Given the description of an element on the screen output the (x, y) to click on. 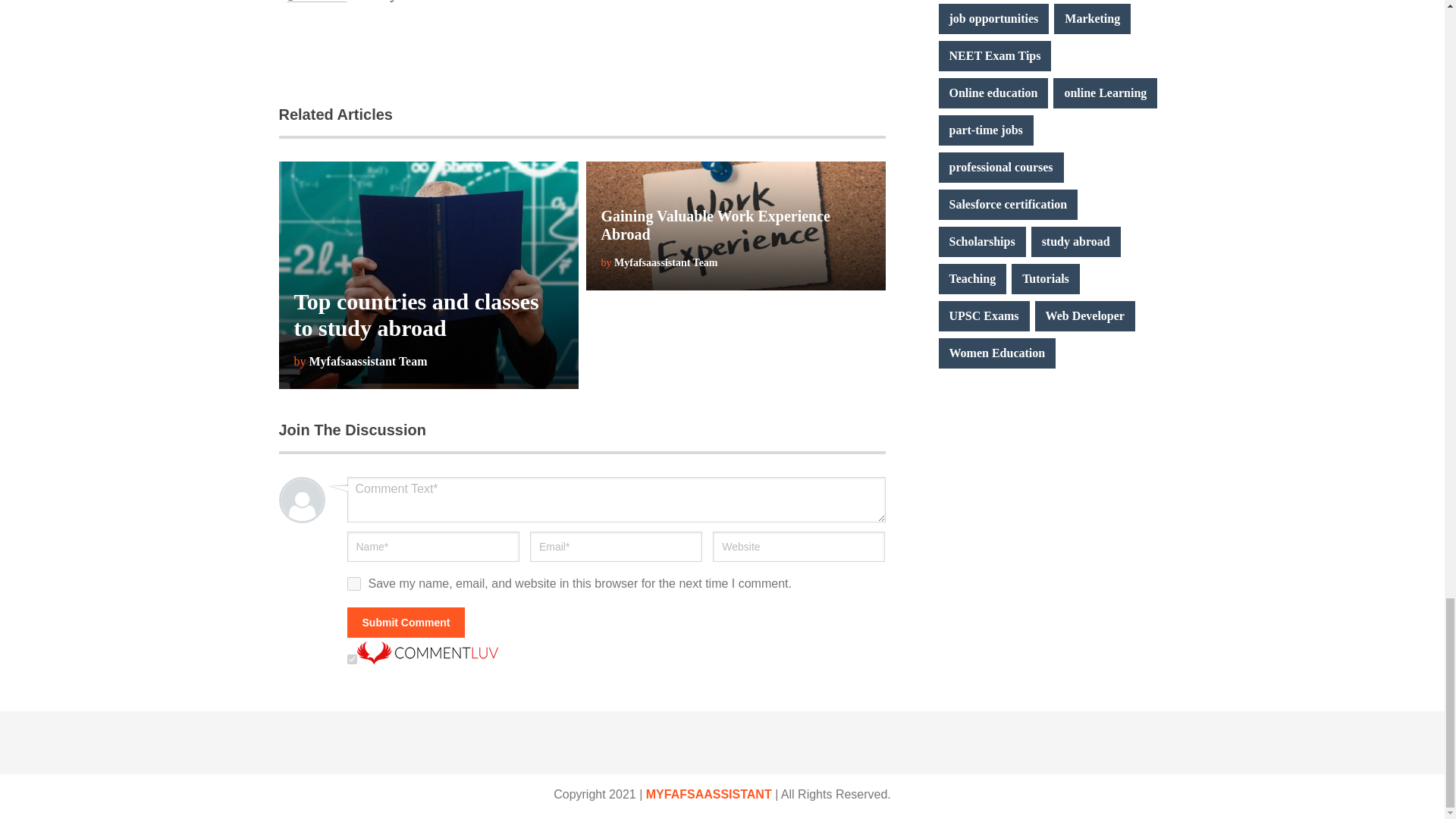
Gaining Valuable Work Experience Abroad (714, 225)
on (351, 659)
Top countries and classes to study abroad (416, 314)
Gaining Valuable Work Experience Abroad (714, 225)
Submit Comment (406, 622)
yes (354, 583)
Myfafsaassistant Team (444, 1)
CommentLuv is enabled (426, 659)
Submit Comment (406, 622)
Top countries and classes to study abroad (416, 314)
